Given the description of an element on the screen output the (x, y) to click on. 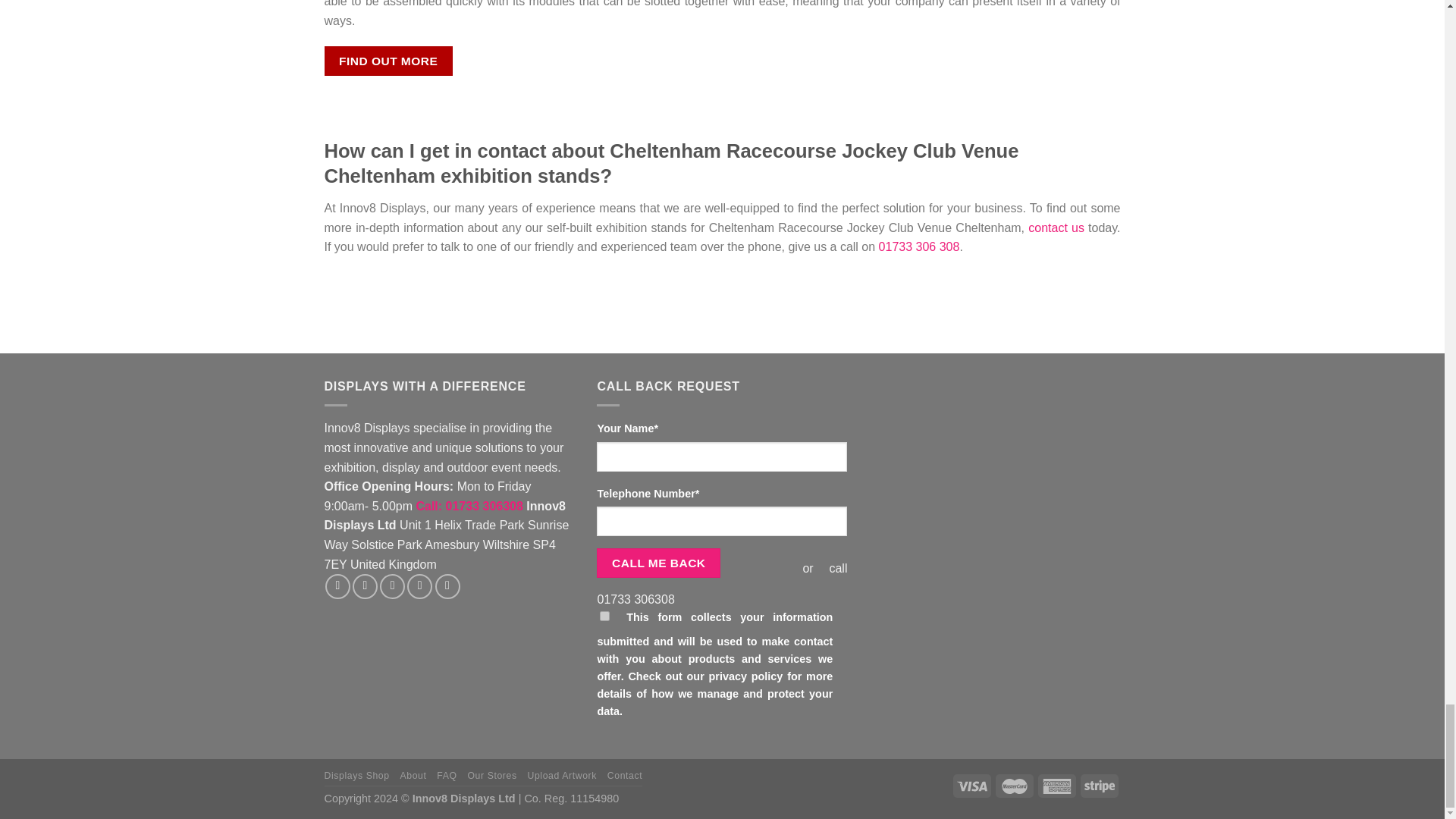
Share on LinkedIn (447, 586)
Call me back (658, 562)
Pin on Pinterest (419, 586)
Share on Facebook (337, 586)
Email to a Friend (392, 586)
1 (604, 615)
Share on Twitter (364, 586)
